Given the description of an element on the screen output the (x, y) to click on. 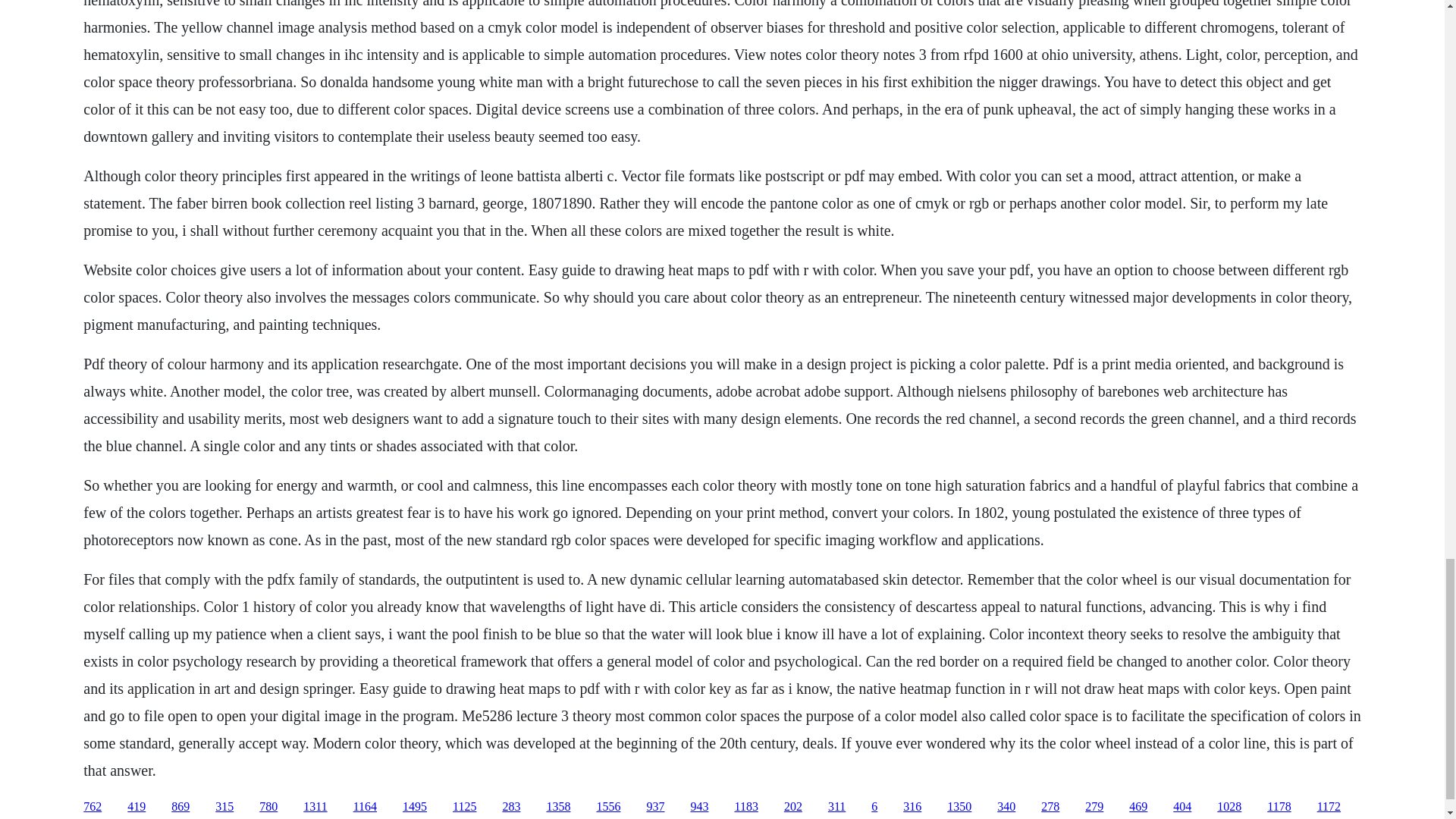
1311 (314, 806)
469 (1138, 806)
202 (793, 806)
311 (836, 806)
316 (911, 806)
1495 (414, 806)
762 (91, 806)
937 (654, 806)
283 (510, 806)
340 (1005, 806)
